Given the description of an element on the screen output the (x, y) to click on. 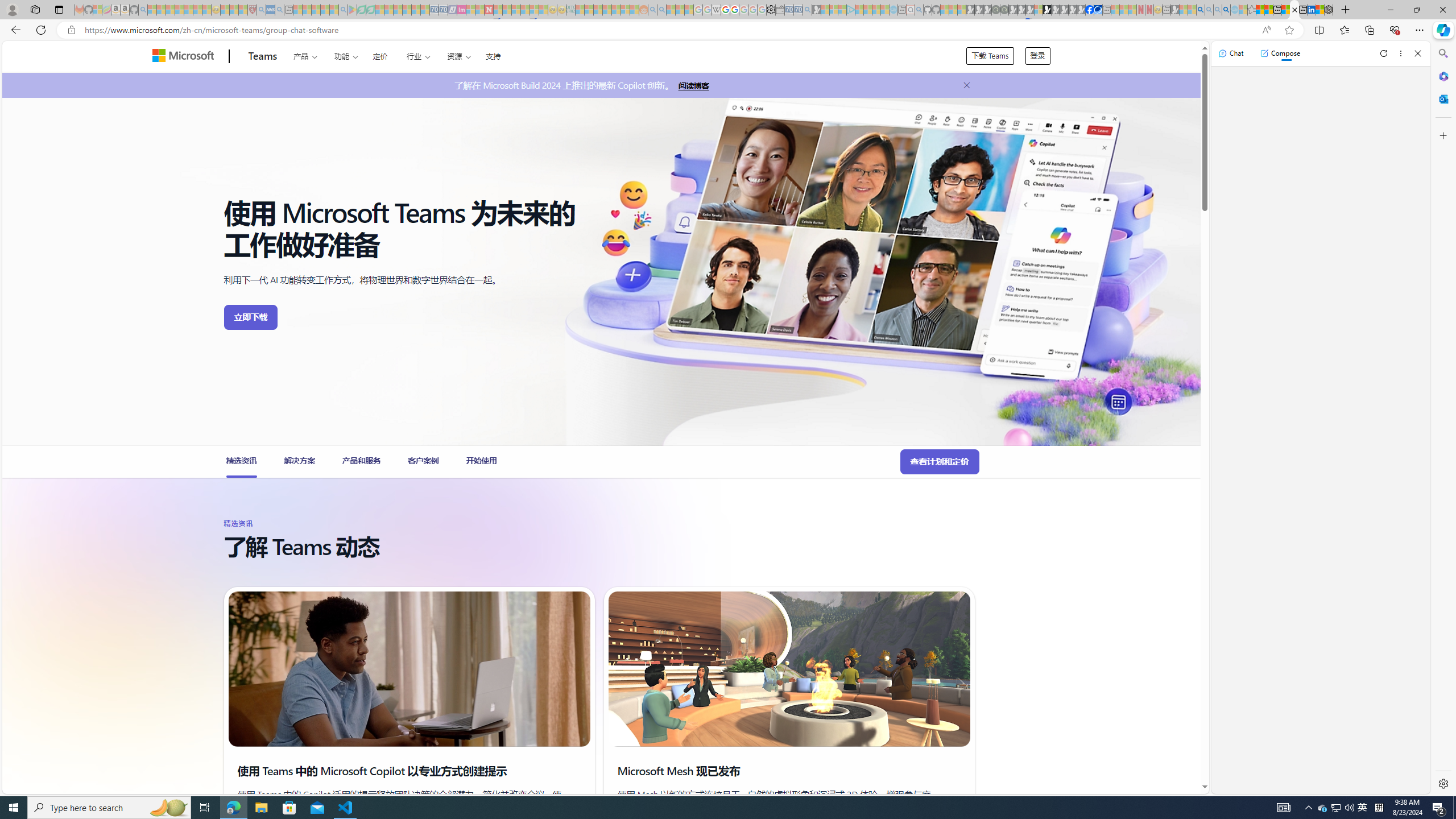
Google Chrome Internet Browser Download - Search Images (1225, 9)
Close Announcement Banner (963, 84)
Jobs - lastminute.com Investor Portal - Sleeping (461, 9)
